Given the description of an element on the screen output the (x, y) to click on. 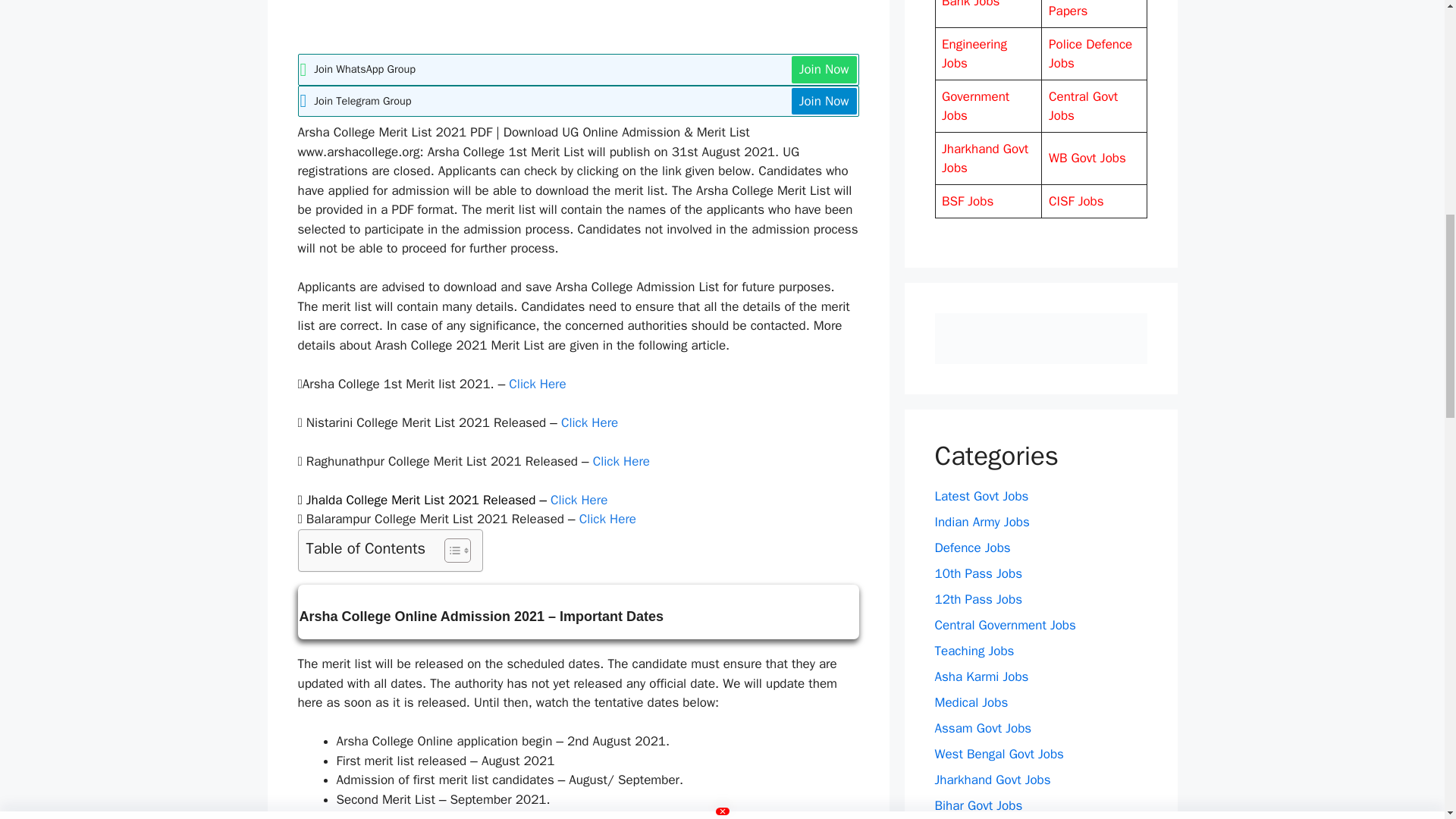
Click Here (537, 383)
Click Here (620, 461)
Join Now (824, 101)
Join Now (824, 69)
Scroll back to top (1406, 720)
Click Here (578, 499)
Click Here (607, 519)
Click Here (588, 422)
